Given the description of an element on the screen output the (x, y) to click on. 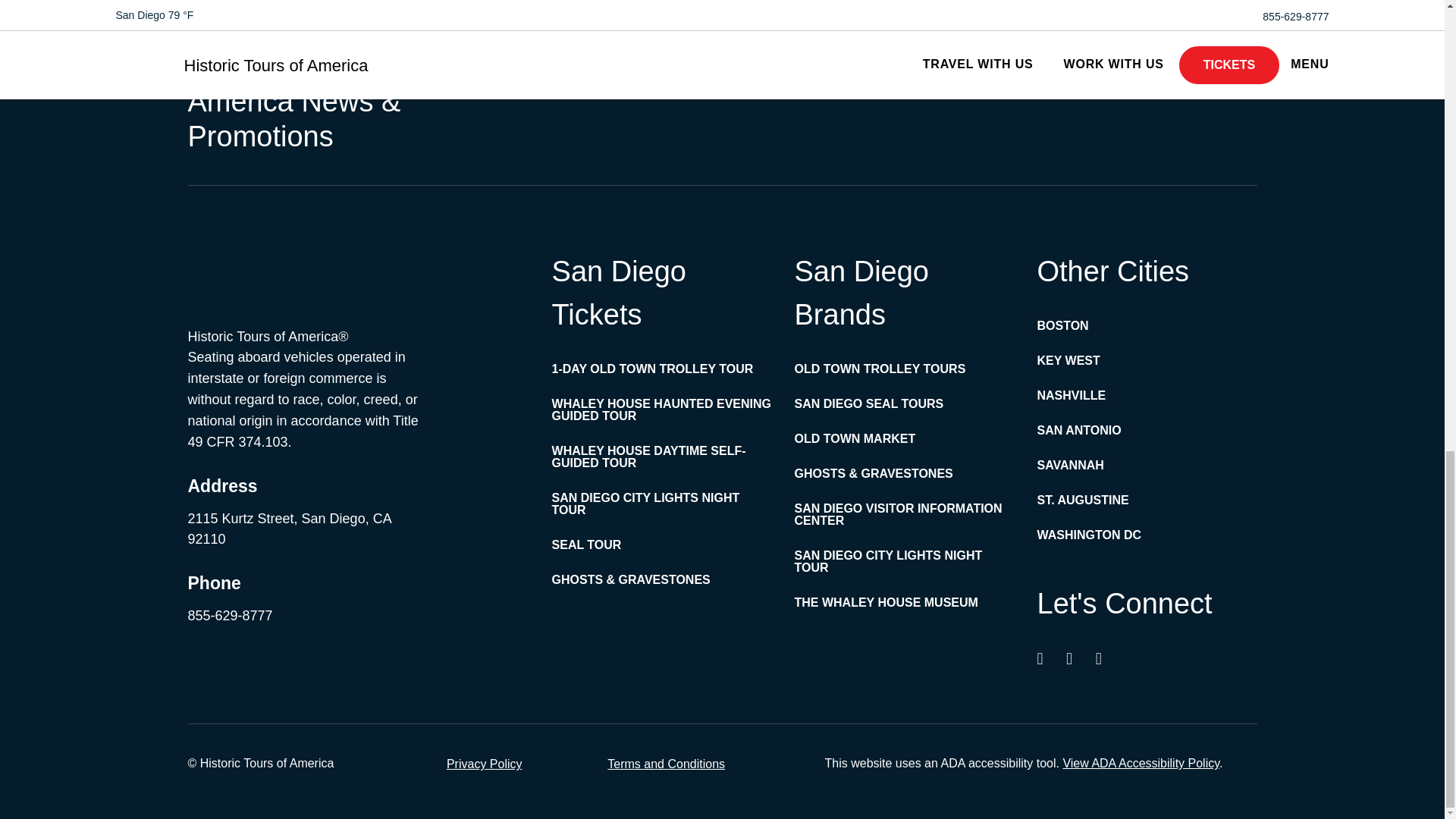
Submit (1173, 67)
